Given the description of an element on the screen output the (x, y) to click on. 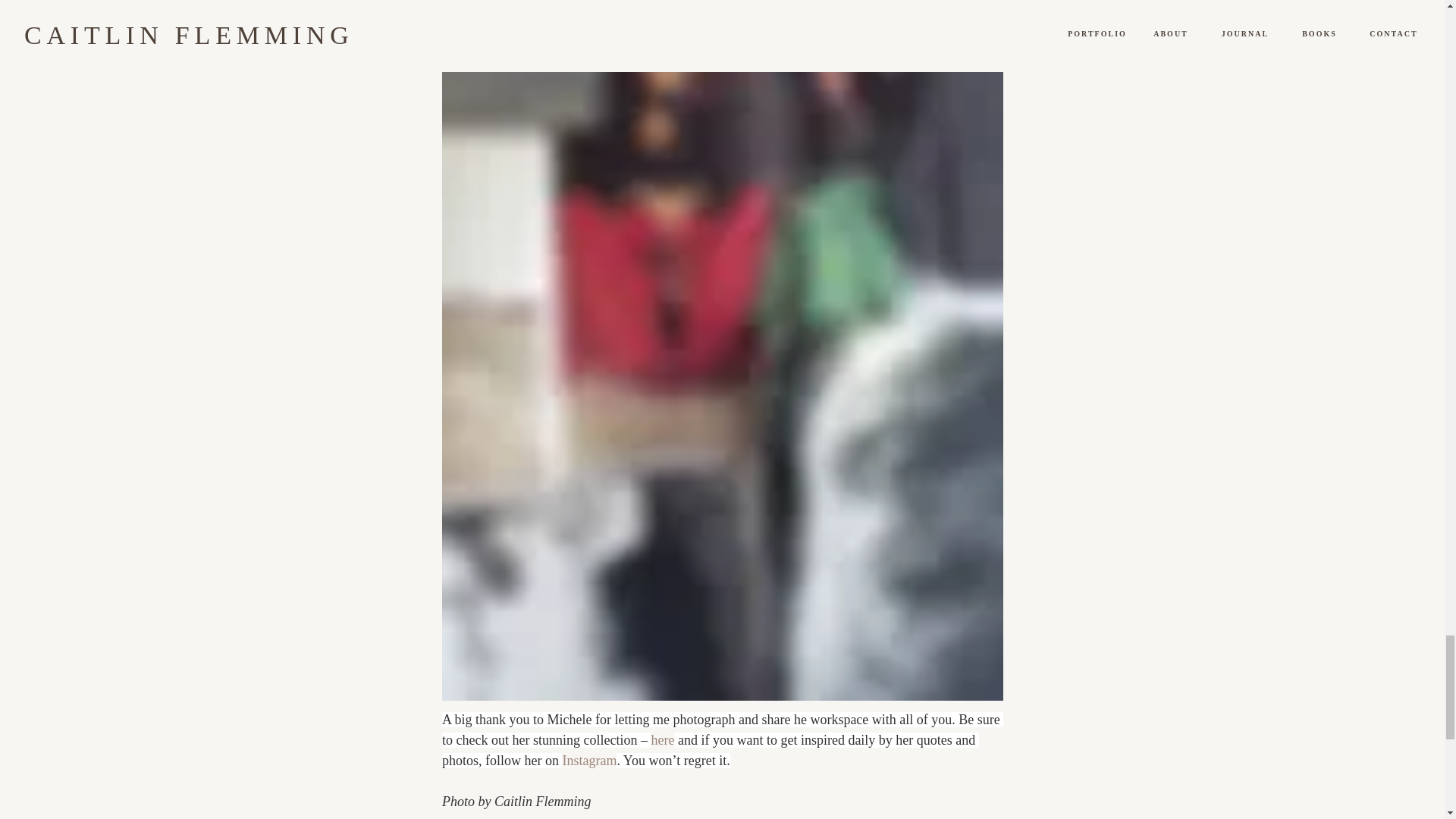
Instagram (588, 760)
here (662, 739)
